Given the description of an element on the screen output the (x, y) to click on. 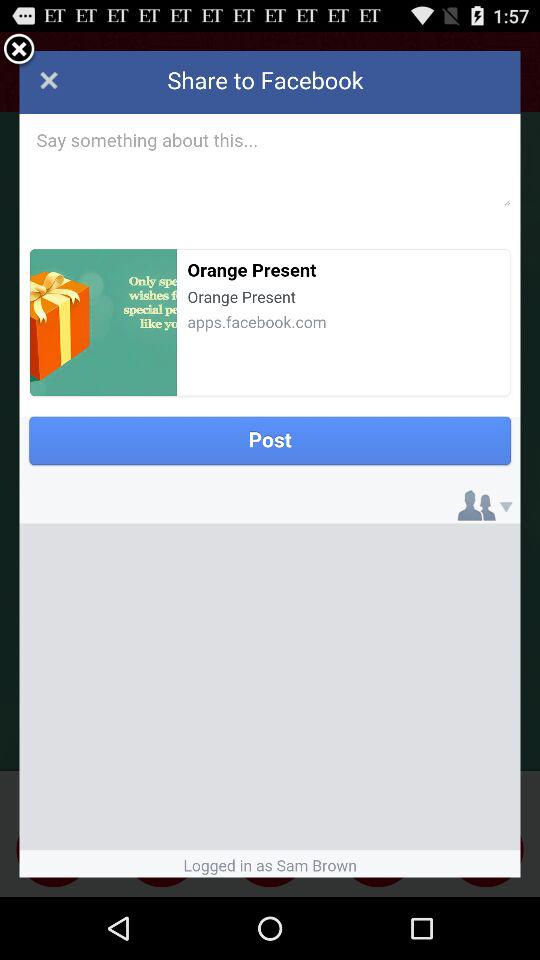
close this page (269, 464)
